Given the description of an element on the screen output the (x, y) to click on. 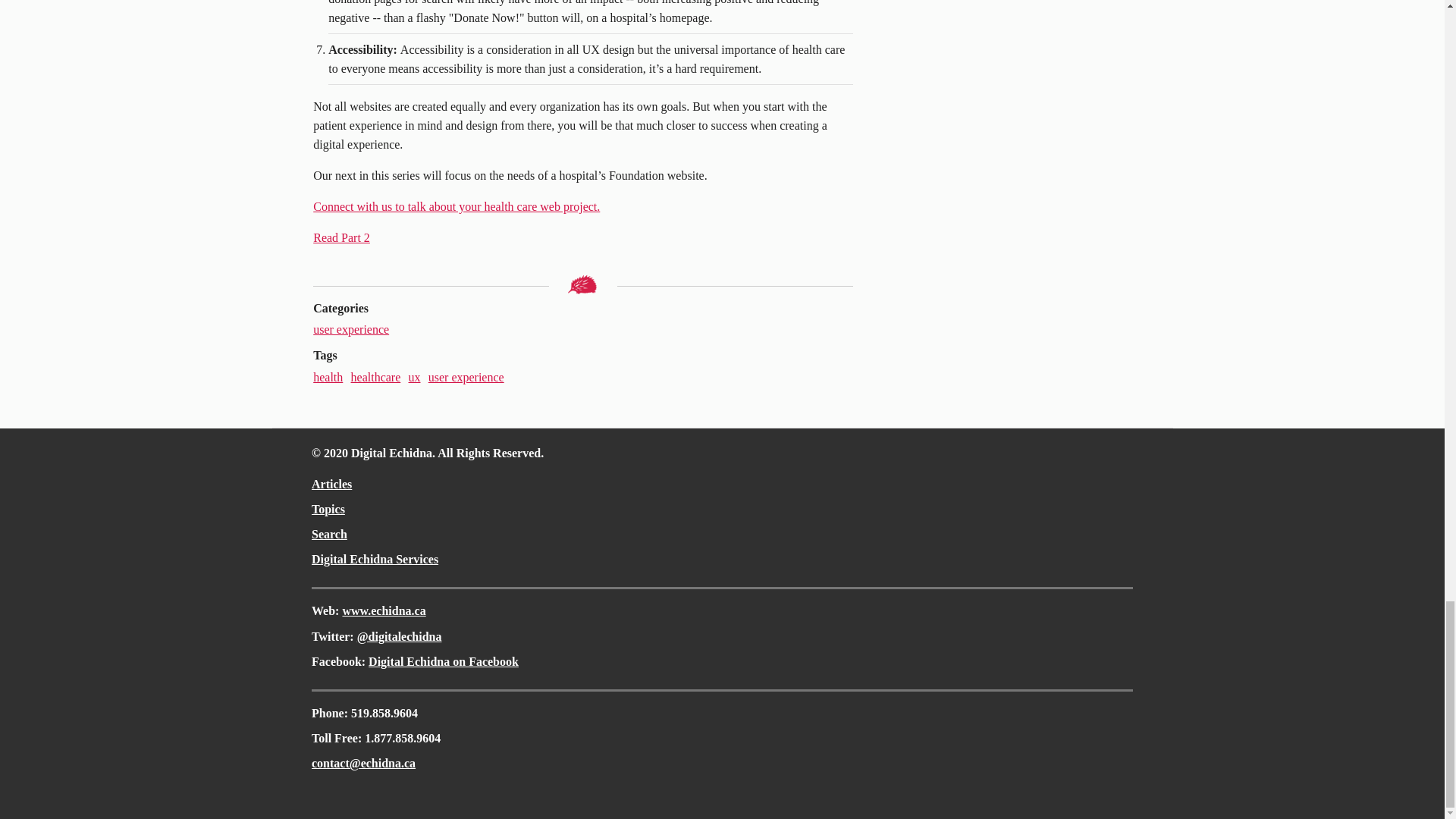
Connect with us to talk about your health care web project. (456, 205)
Digital Echidna Services (374, 558)
Read Part 2 (341, 237)
user experience (350, 328)
health (327, 377)
ux (413, 377)
Digital Echidna on Facebook (443, 661)
Articles (331, 483)
Topics (328, 508)
Search (329, 533)
